Given the description of an element on the screen output the (x, y) to click on. 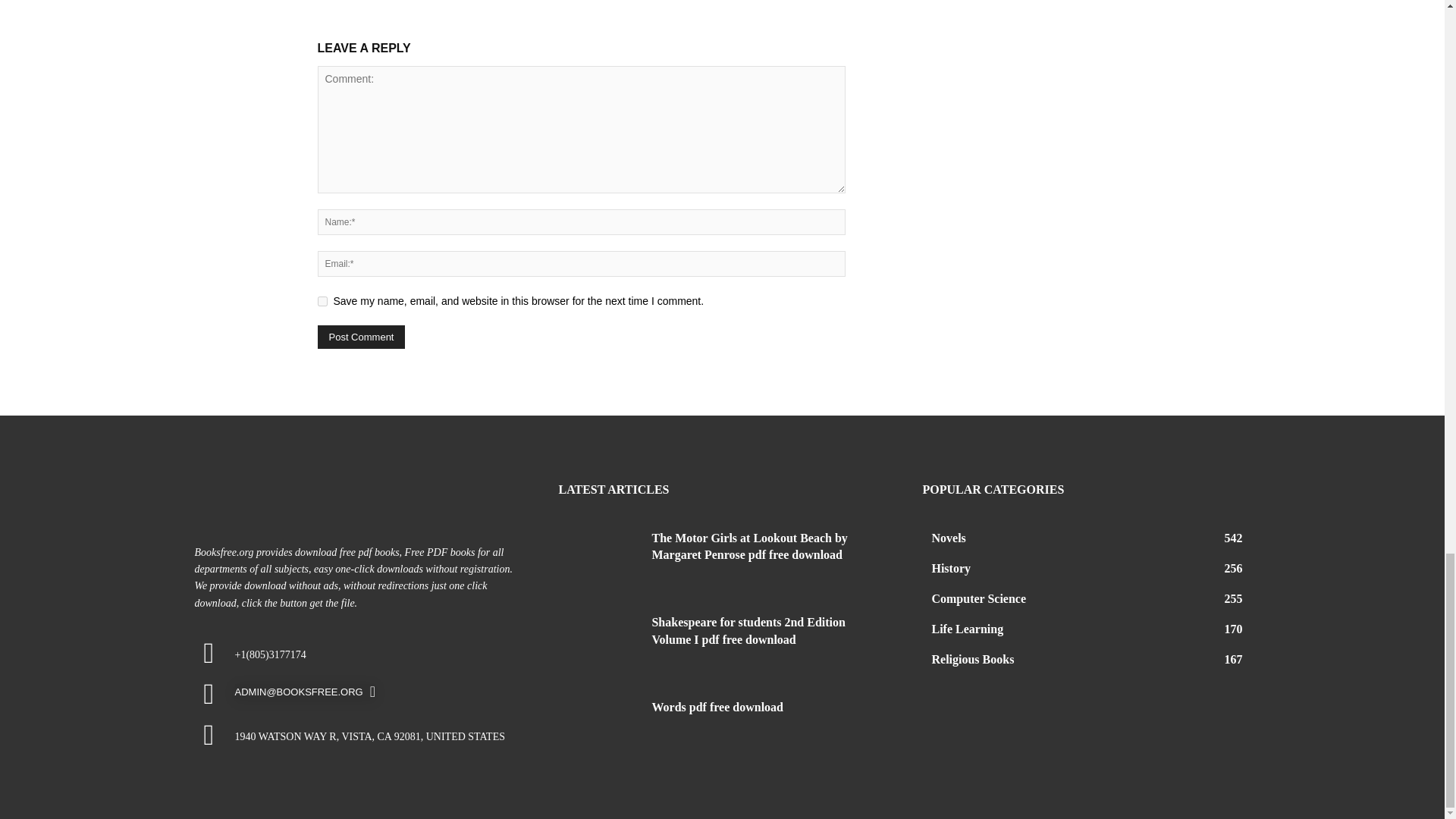
Post Comment (360, 336)
yes (321, 301)
